Given the description of an element on the screen output the (x, y) to click on. 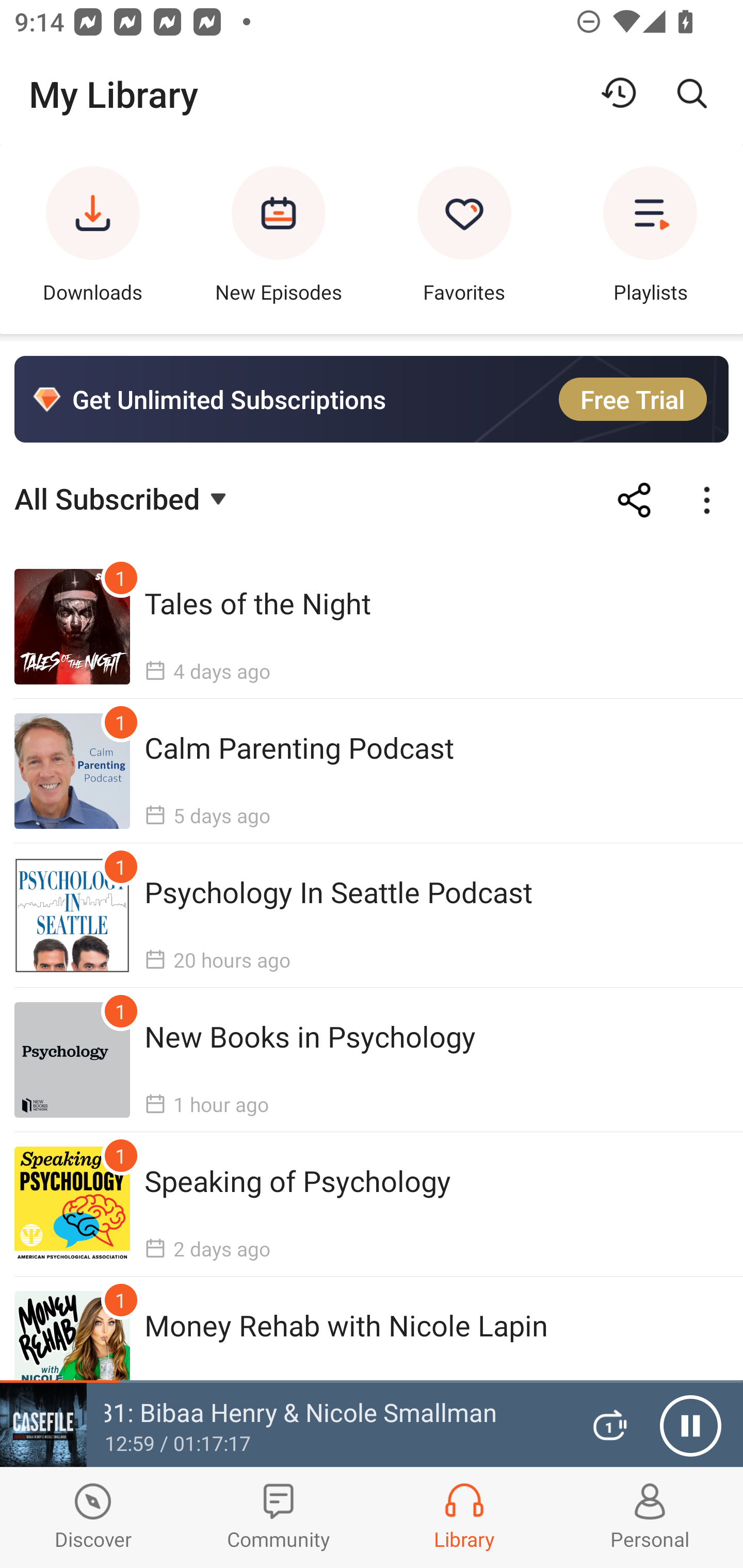
Downloads (92, 238)
New Episodes (278, 238)
Favorites (464, 238)
Playlists (650, 238)
Get Unlimited Subscriptions Free Trial (371, 398)
Free Trial (632, 398)
All Subscribed (123, 497)
Pause (690, 1425)
Discover (92, 1517)
Community (278, 1517)
Library (464, 1517)
Profiles and Settings Personal (650, 1517)
